Given the description of an element on the screen output the (x, y) to click on. 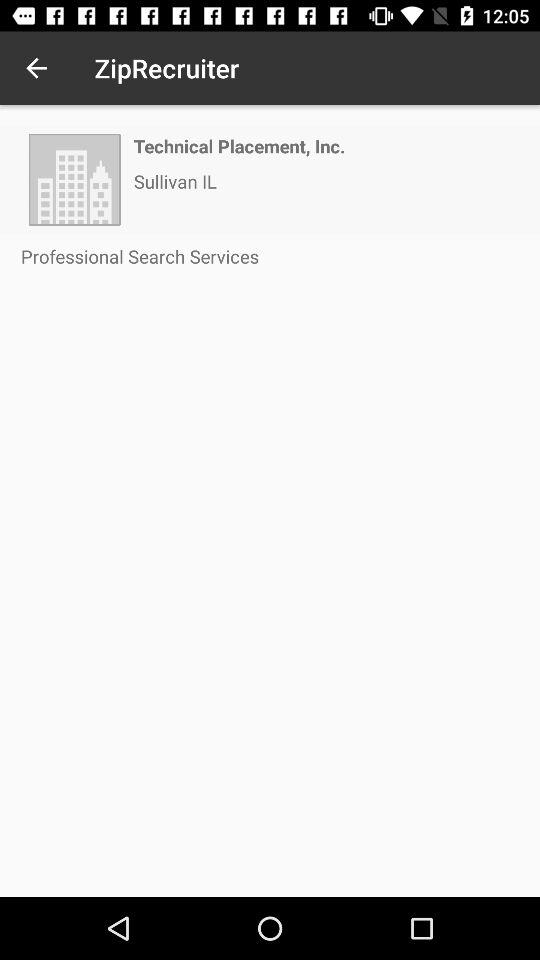
open the icon to the left of ziprecruiter icon (36, 68)
